Given the description of an element on the screen output the (x, y) to click on. 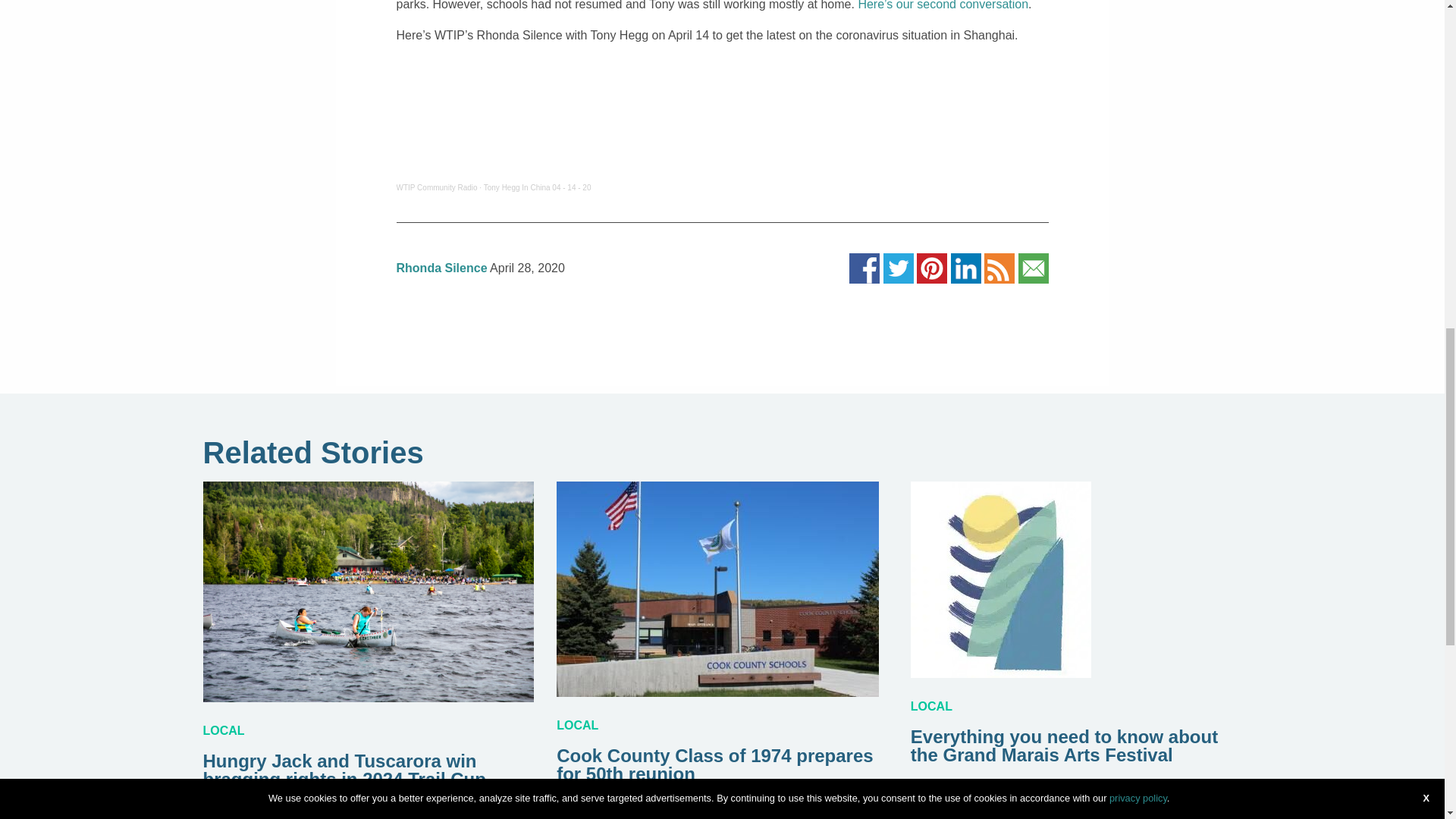
WTIP  Community Radio (436, 187)
